Given the description of an element on the screen output the (x, y) to click on. 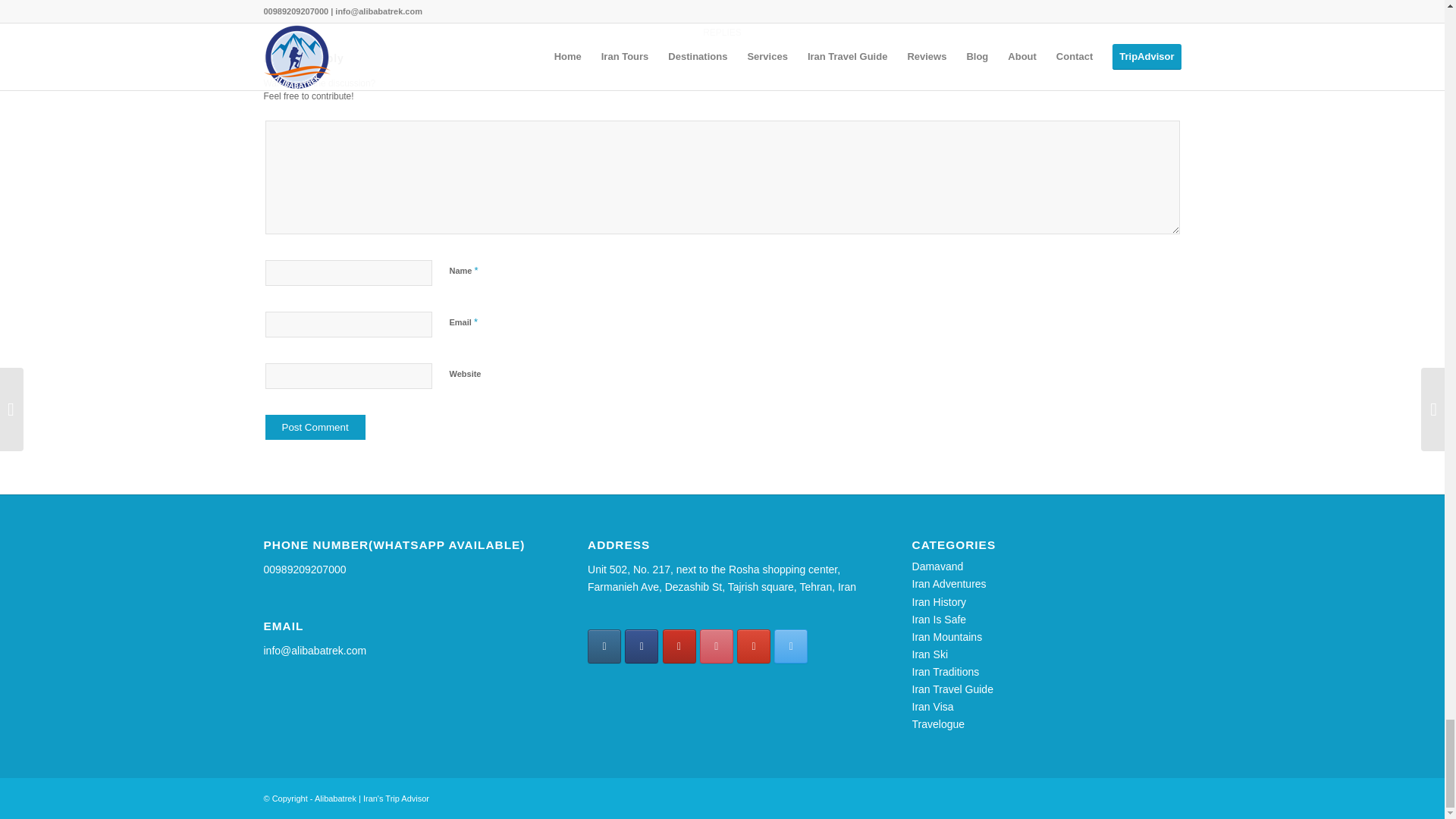
Post Comment (314, 426)
Facebook (641, 646)
Instagram (604, 646)
